Given the description of an element on the screen output the (x, y) to click on. 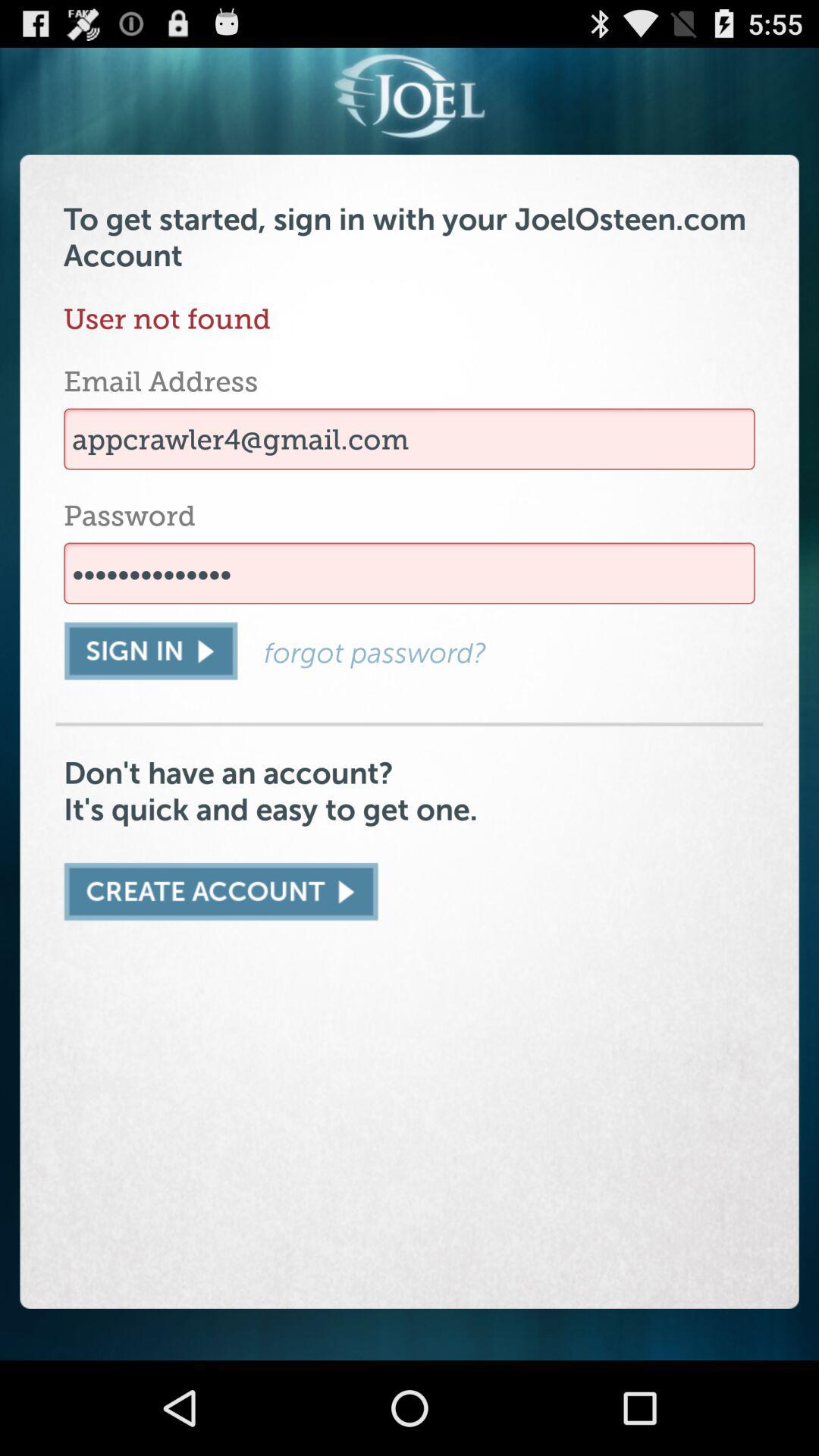
account creation button (220, 891)
